Given the description of an element on the screen output the (x, y) to click on. 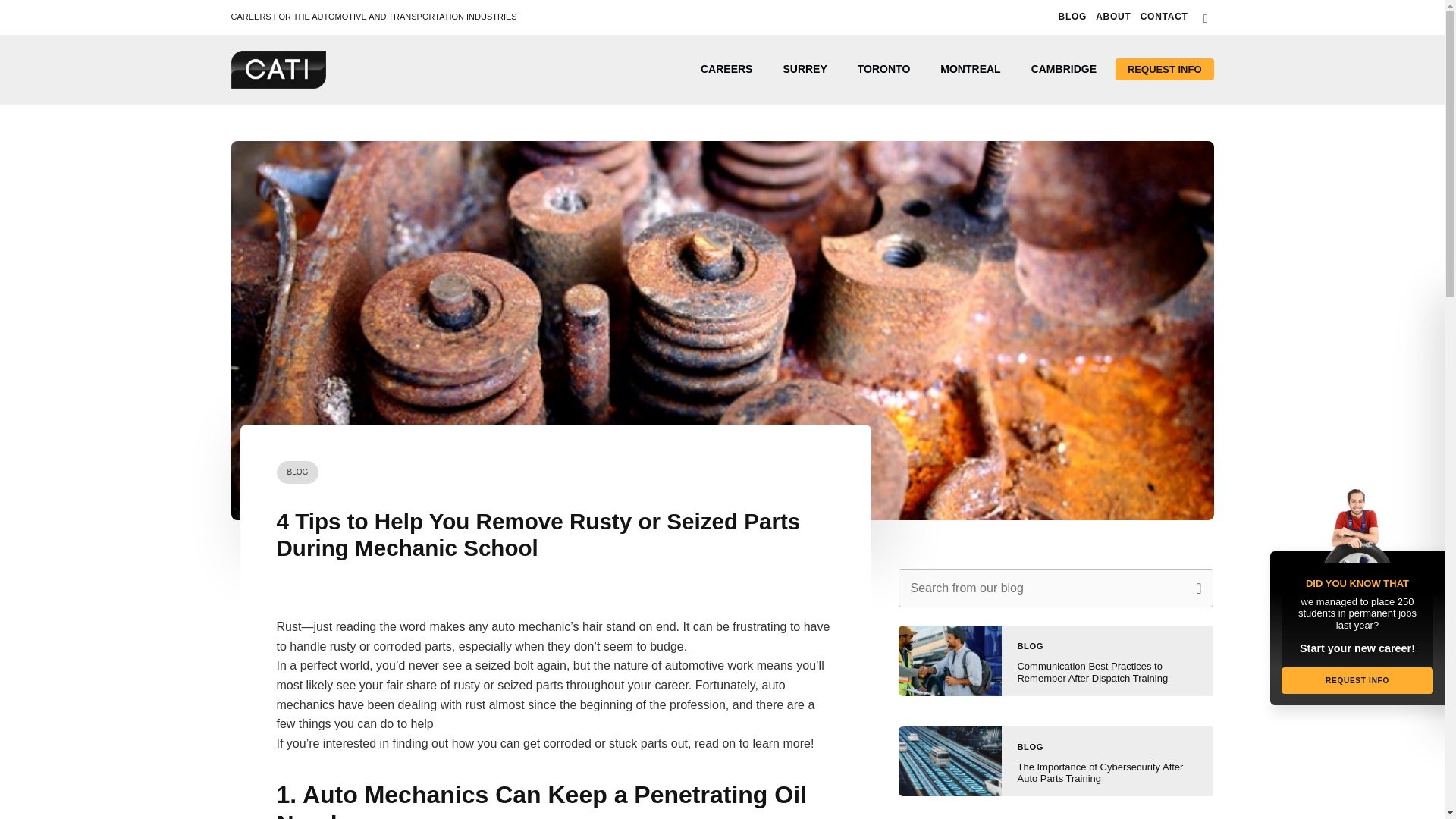
CONTACT (1164, 17)
CAMBRIDGE (1064, 69)
BLOG (297, 472)
BLOG (1072, 17)
CAREERS (726, 69)
Contact (1164, 17)
Blog (1072, 17)
SURREY (804, 69)
MONTREAL (969, 69)
Surrey (804, 69)
About (1113, 17)
TORONTO (884, 69)
REQUEST INFO (1164, 69)
Toronto (884, 69)
